Given the description of an element on the screen output the (x, y) to click on. 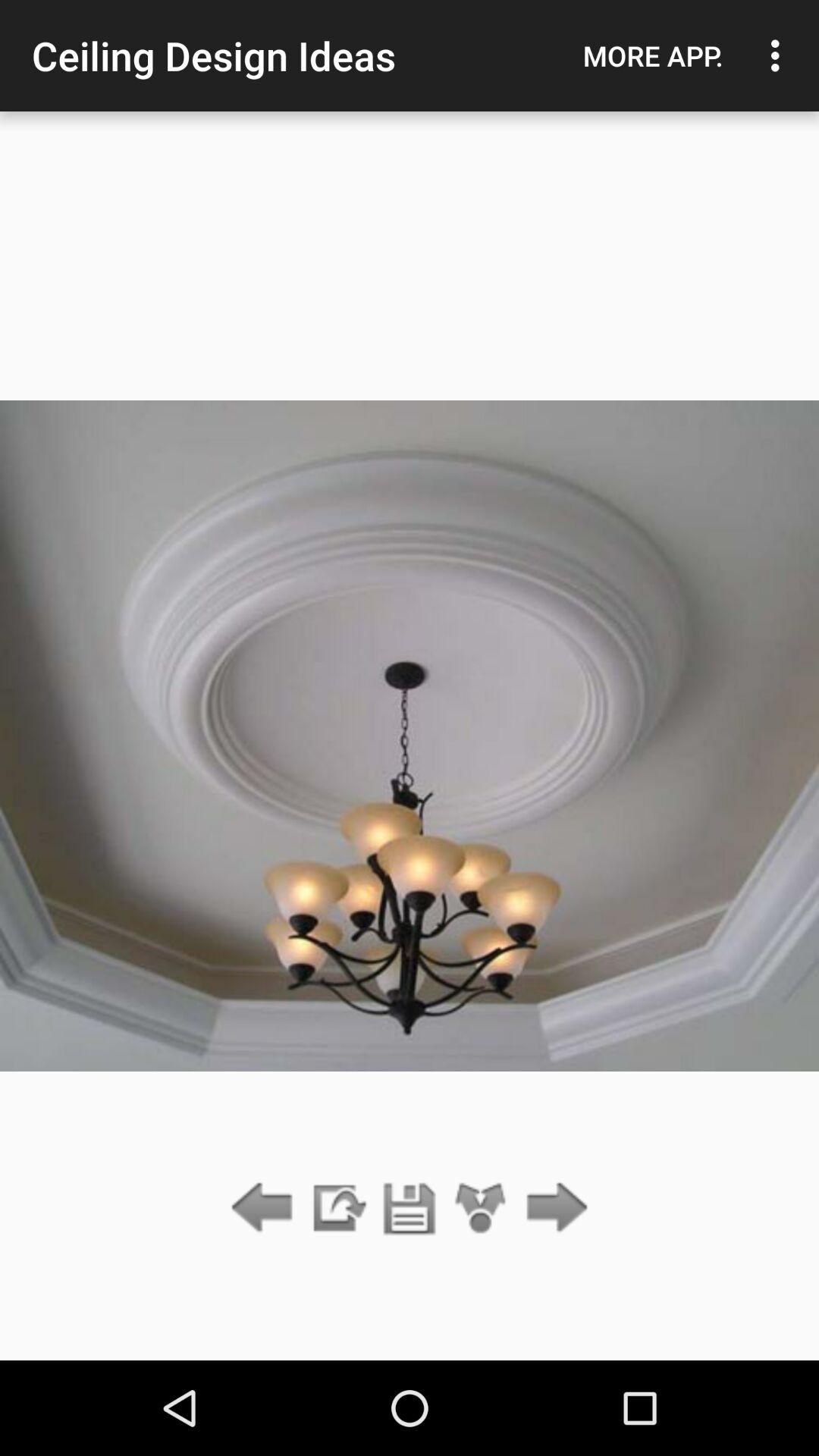
go back (266, 1209)
